Given the description of an element on the screen output the (x, y) to click on. 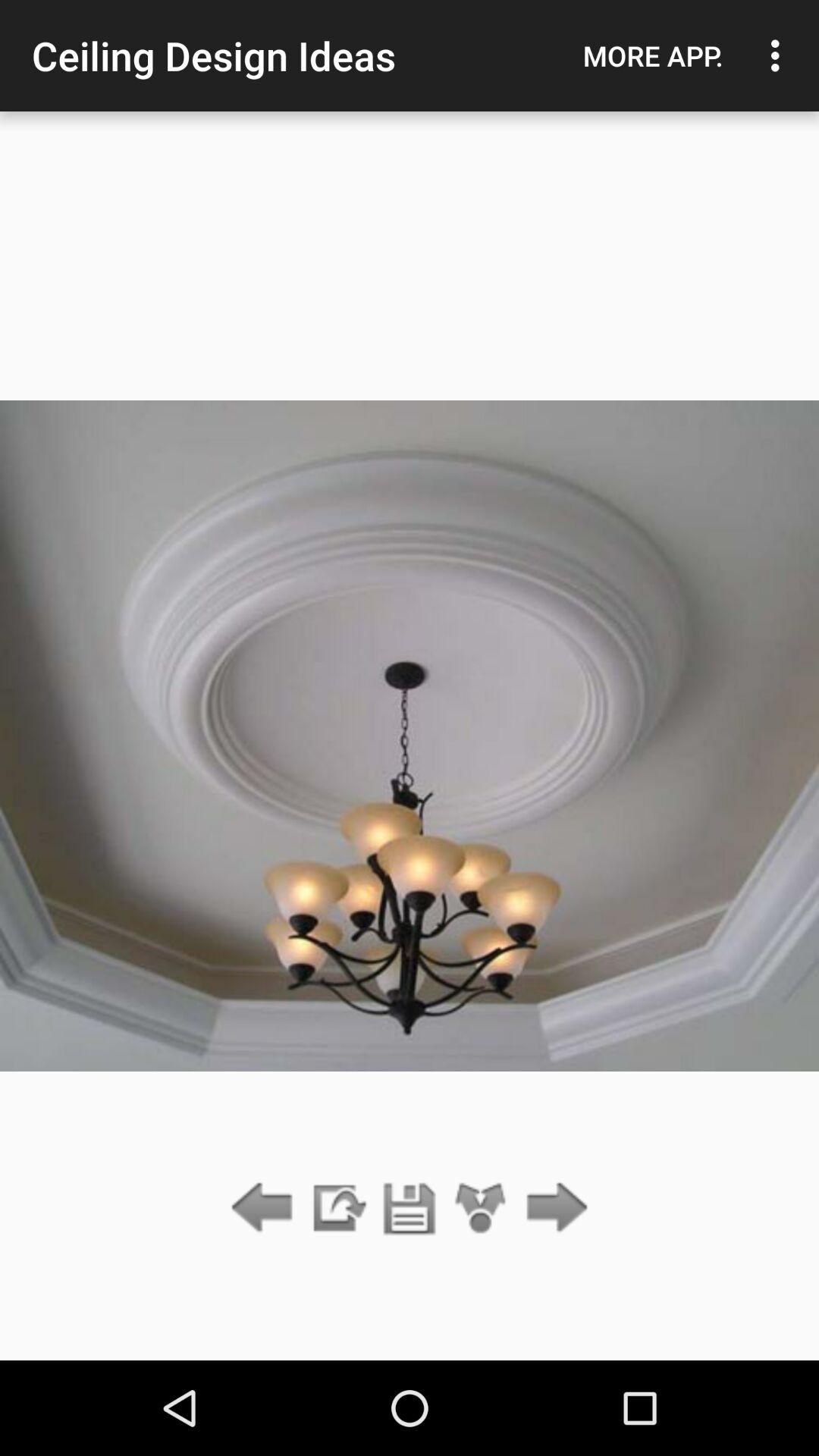
go back (266, 1209)
